Given the description of an element on the screen output the (x, y) to click on. 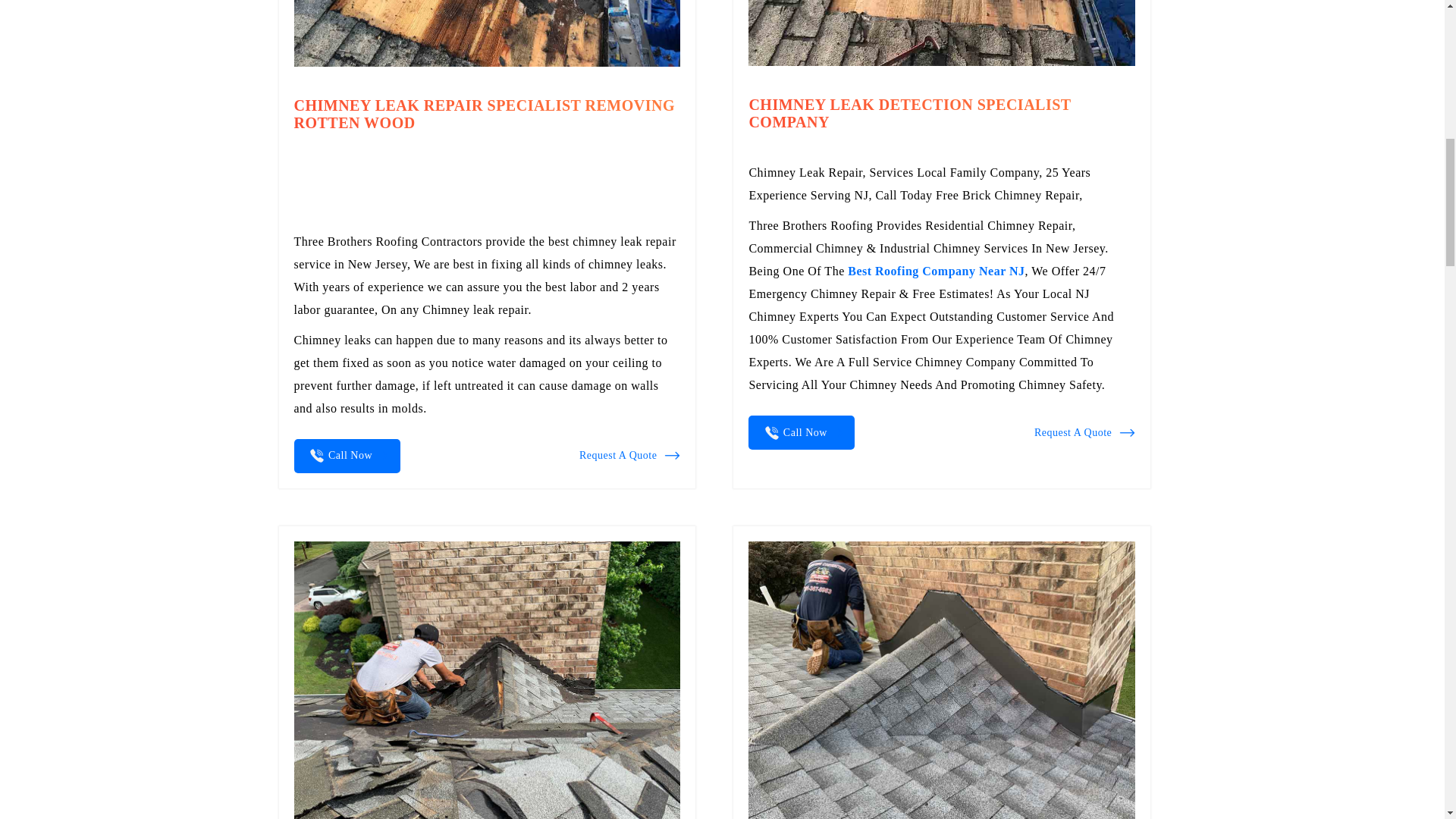
Call Now (801, 432)
Request A Quote (1084, 432)
Call Now (347, 455)
Request A Quote (629, 455)
Best Roofing Company Near NJ (936, 270)
